Given the description of an element on the screen output the (x, y) to click on. 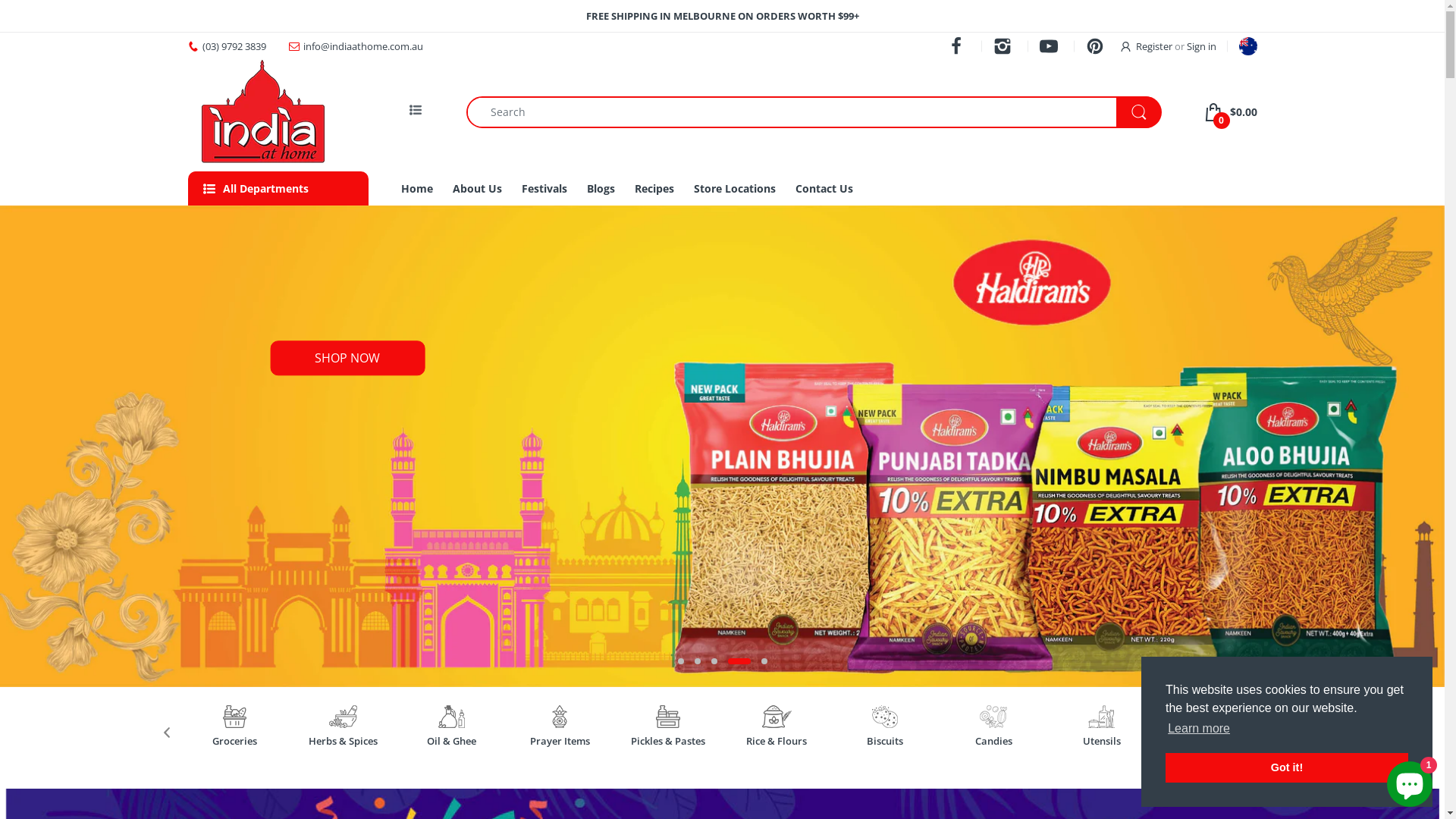
Herbs & Spices Element type: text (342, 740)
Register Element type: text (1146, 45)
Pinterest Element type: hover (1097, 46)
(03) 9792 3839 Element type: text (233, 45)
ORDER NOW Element type: text (350, 358)
Home Element type: text (417, 188)
Biscuits Element type: text (884, 740)
Blogs Element type: text (600, 188)
info@indiaathome.com.au Element type: text (363, 45)
Candies Element type: text (993, 740)
Shopify online store chat Element type: hover (1409, 780)
Festivals Element type: text (544, 188)
Groceries Element type: text (234, 740)
Youtube Element type: hover (1050, 46)
Prayer Items Element type: text (559, 740)
India At Home Element type: hover (263, 111)
Instagram Element type: hover (1004, 46)
Rice & Flours Element type: text (776, 740)
About Us Element type: text (477, 188)
Oil & Ghee Element type: text (451, 740)
0
$0.00 Element type: text (1230, 111)
Facebook Element type: hover (957, 46)
Got it! Element type: text (1286, 767)
Contact Us Element type: text (824, 188)
Recipes Element type: text (654, 188)
Utensils Element type: text (1101, 740)
Store Locations Element type: text (734, 188)
Pickles & Pastes Element type: text (668, 740)
Learn more Element type: text (1198, 728)
Sign in Element type: text (1200, 45)
Sweets & Desserts Element type: text (1210, 747)
